Given the description of an element on the screen output the (x, y) to click on. 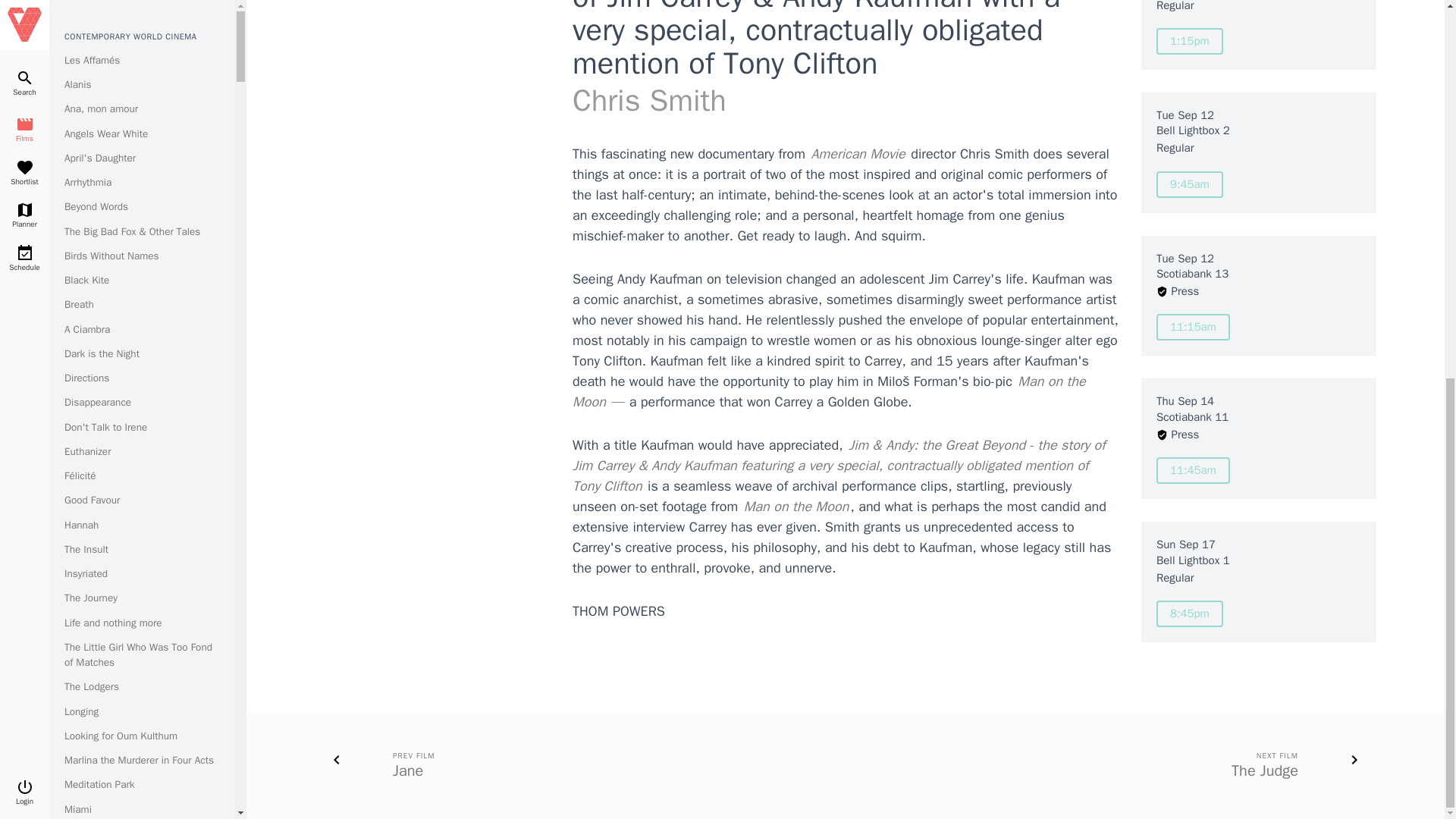
Looking for Oum Kulthum (120, 36)
Longing (81, 11)
Login (24, 92)
Login (24, 92)
